Given the description of an element on the screen output the (x, y) to click on. 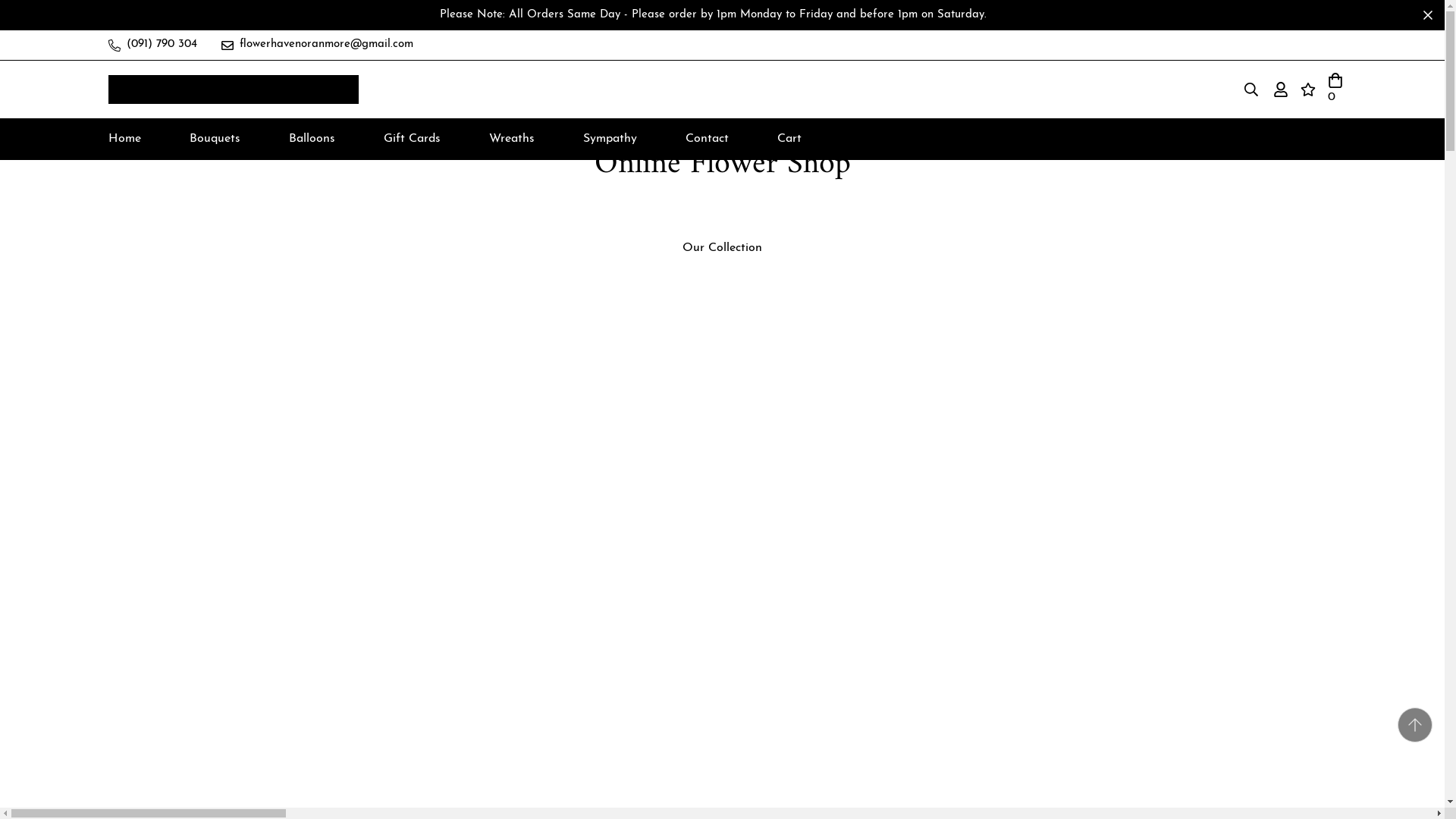
Home (123, 138)
Bouquets (214, 138)
Wreaths (510, 138)
Gift Cards (411, 138)
Contact (706, 138)
Cart (788, 138)
Sympathy (609, 138)
Balloons (310, 138)
